Given the description of an element on the screen output the (x, y) to click on. 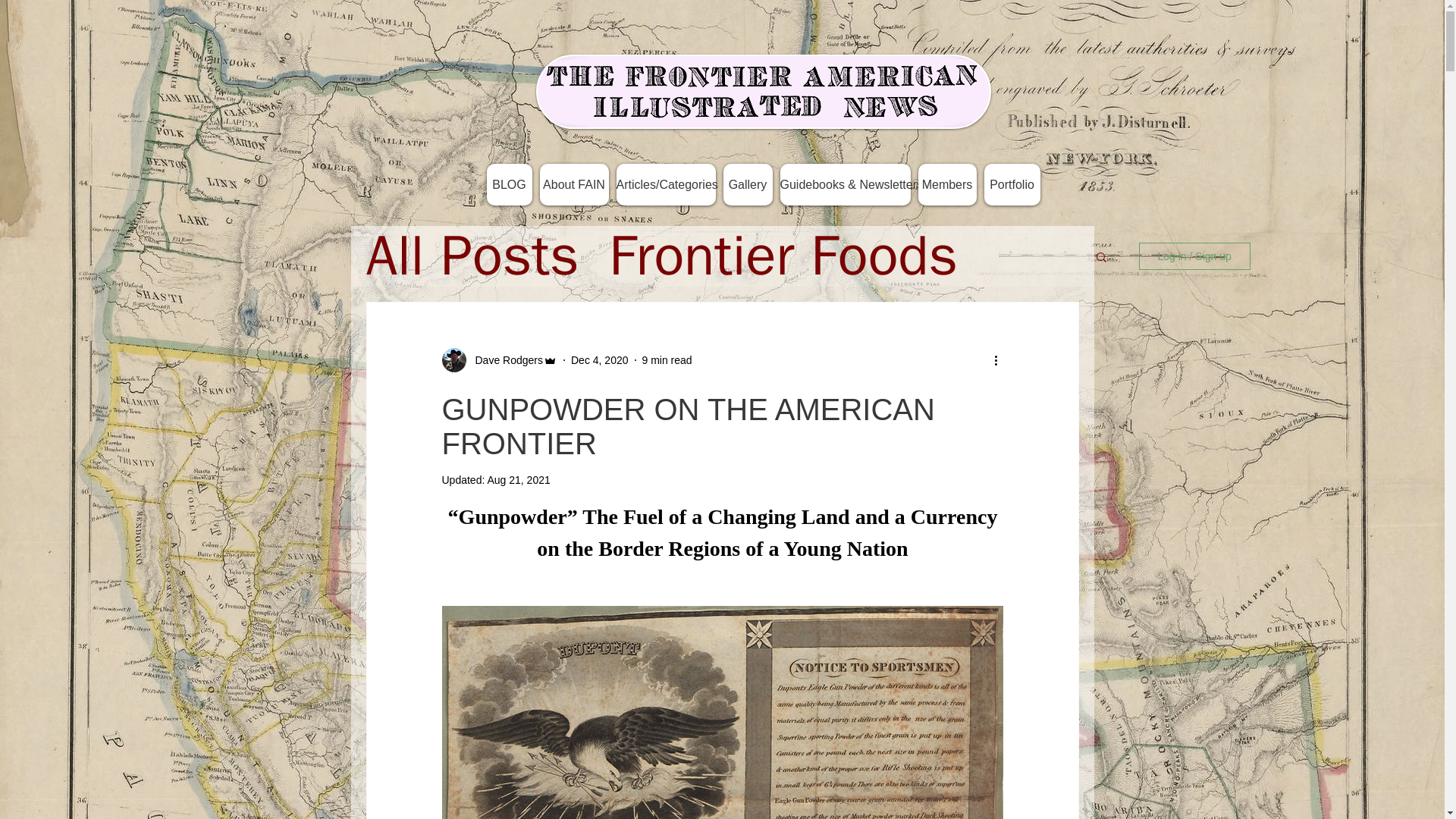
How Life Was in the Old West (758, 316)
All Posts (471, 256)
Aug 21, 2021 (518, 480)
BLOG (509, 184)
Frontier Foods (783, 256)
FAIN Logo.jpg (762, 91)
Gallery (748, 184)
About FAIN (574, 184)
Portfolio (1012, 184)
Members (946, 184)
